Given the description of an element on the screen output the (x, y) to click on. 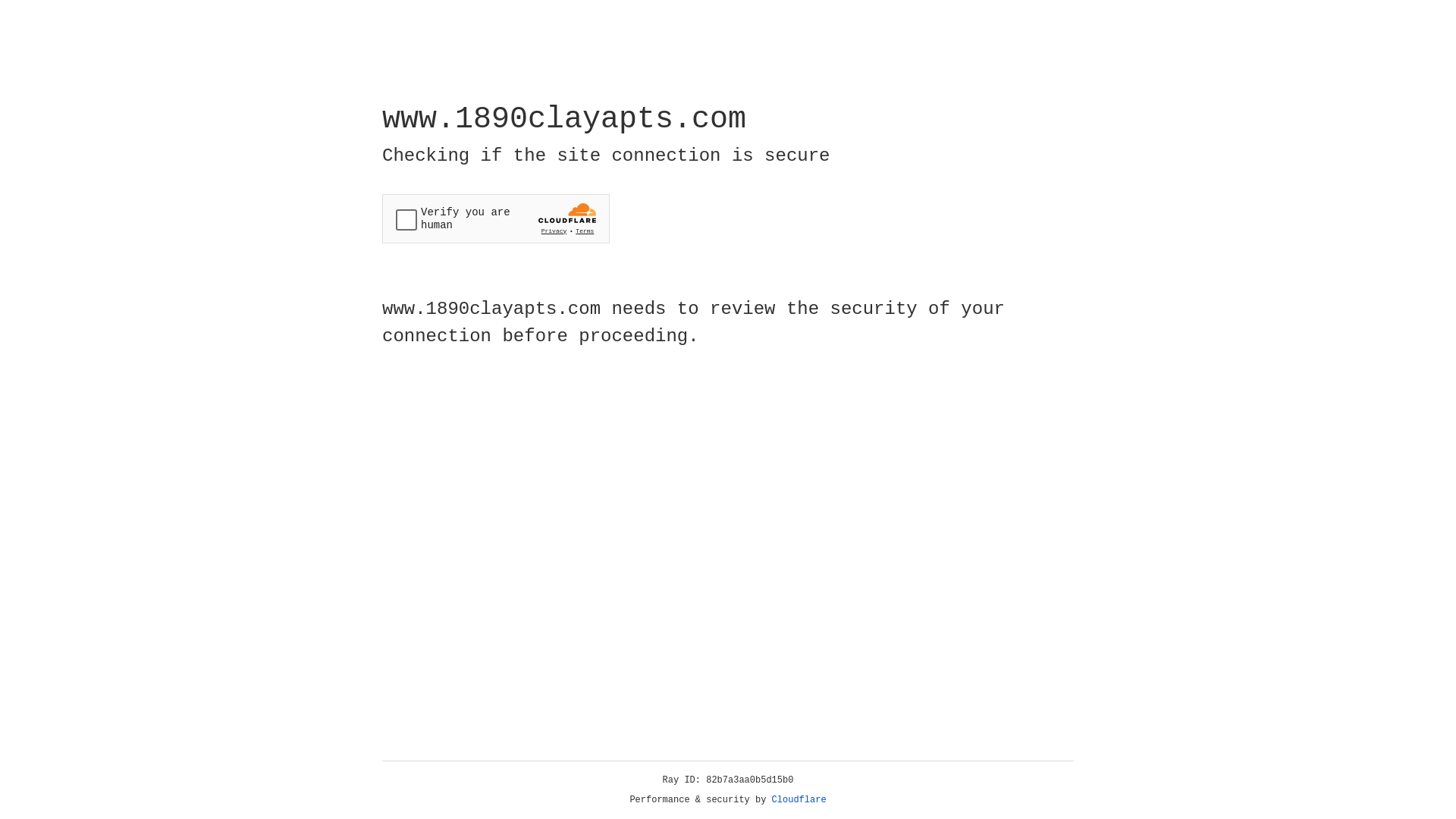
Cloudflare Element type: text (798, 799)
Widget containing a Cloudflare security challenge Element type: hover (495, 218)
